Given the description of an element on the screen output the (x, y) to click on. 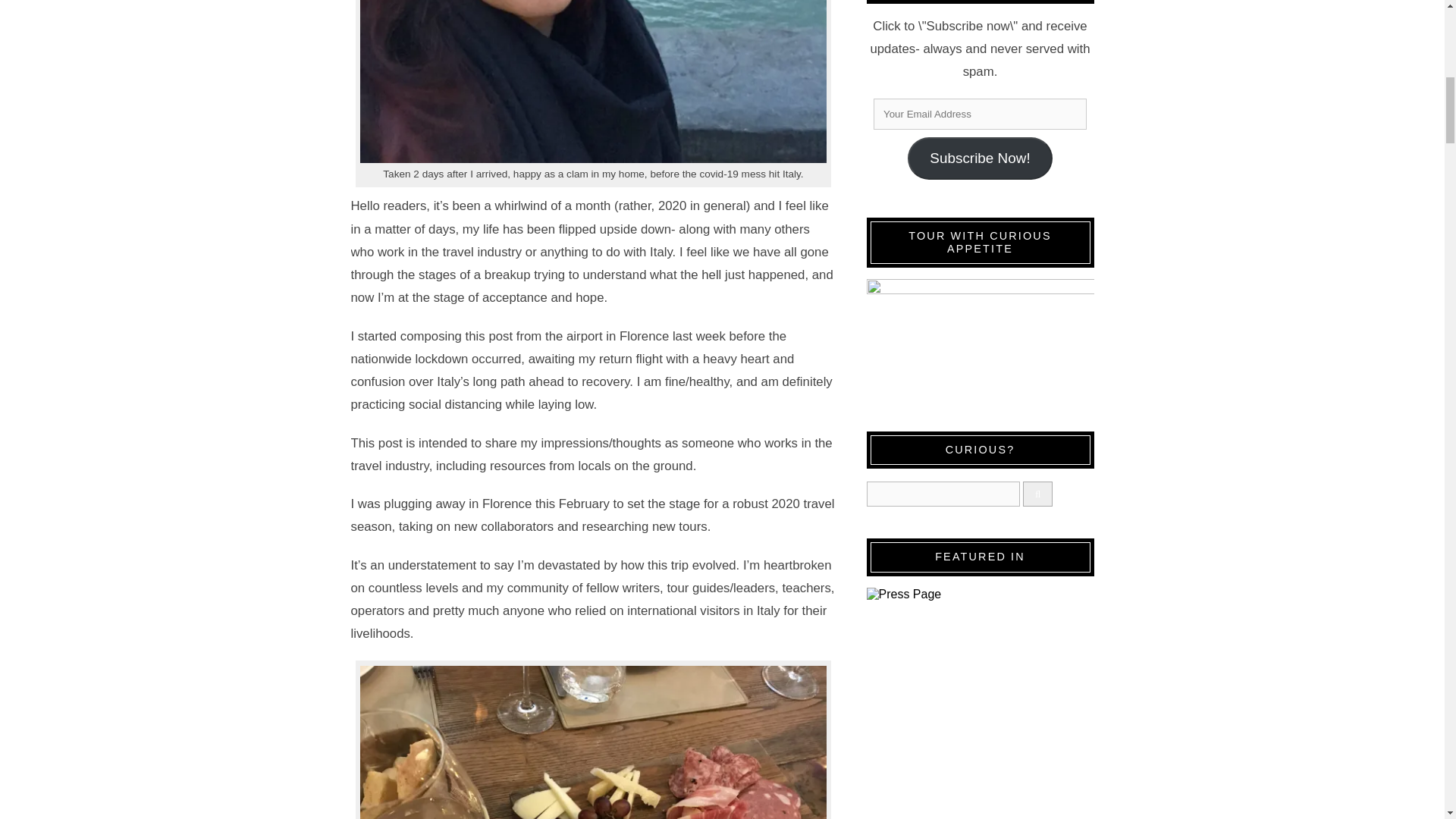
Press Page (979, 703)
Cultural, Culinary Experiences for the Curiously Minded (979, 340)
Search (942, 493)
